Given the description of an element on the screen output the (x, y) to click on. 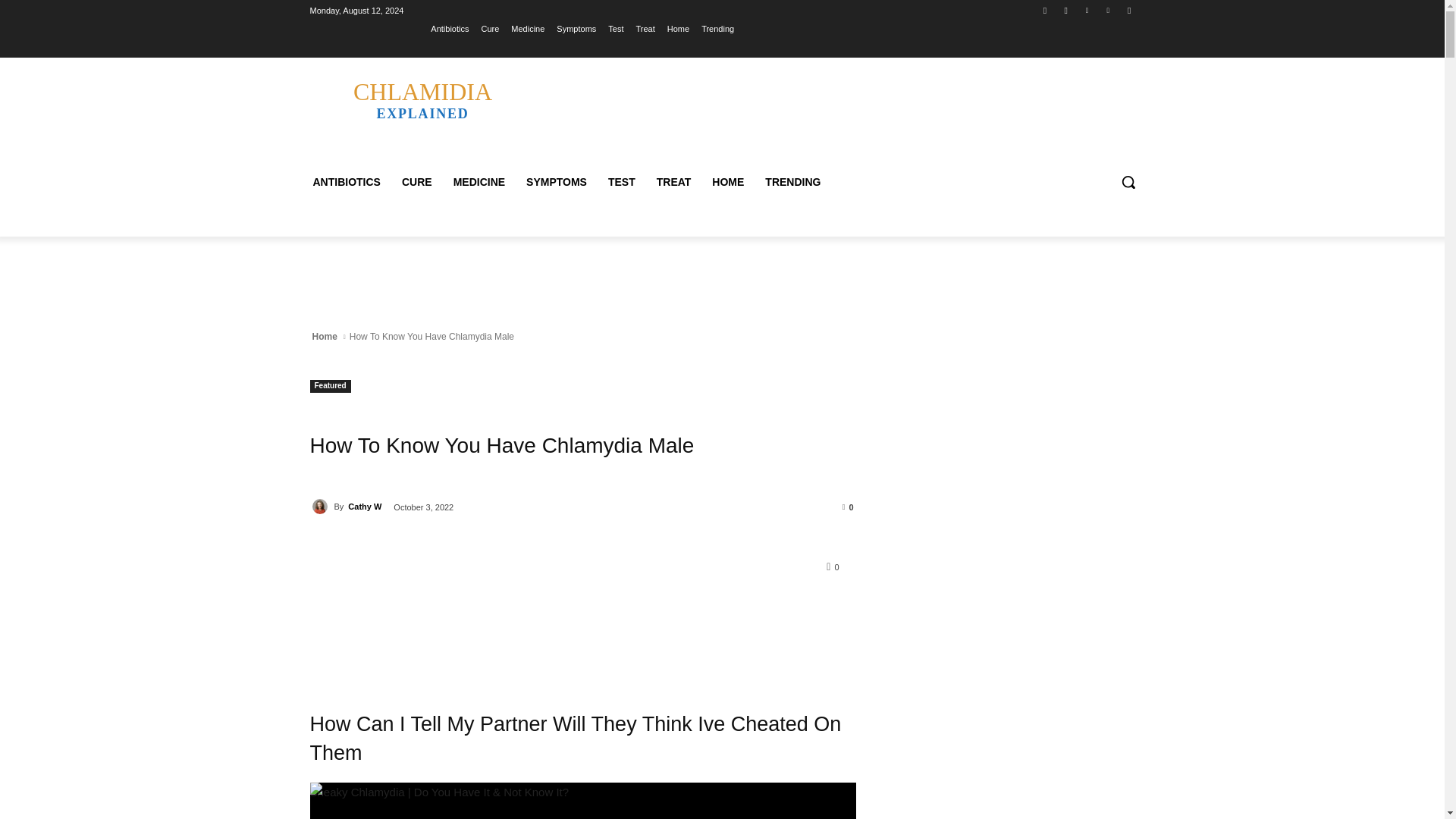
CURE (416, 181)
SYMPTOMS (555, 181)
Vimeo (422, 99)
Symptoms (1107, 9)
TEST (575, 28)
Medicine (621, 181)
Youtube (527, 28)
TREAT (1129, 9)
Facebook (673, 181)
